Given the description of an element on the screen output the (x, y) to click on. 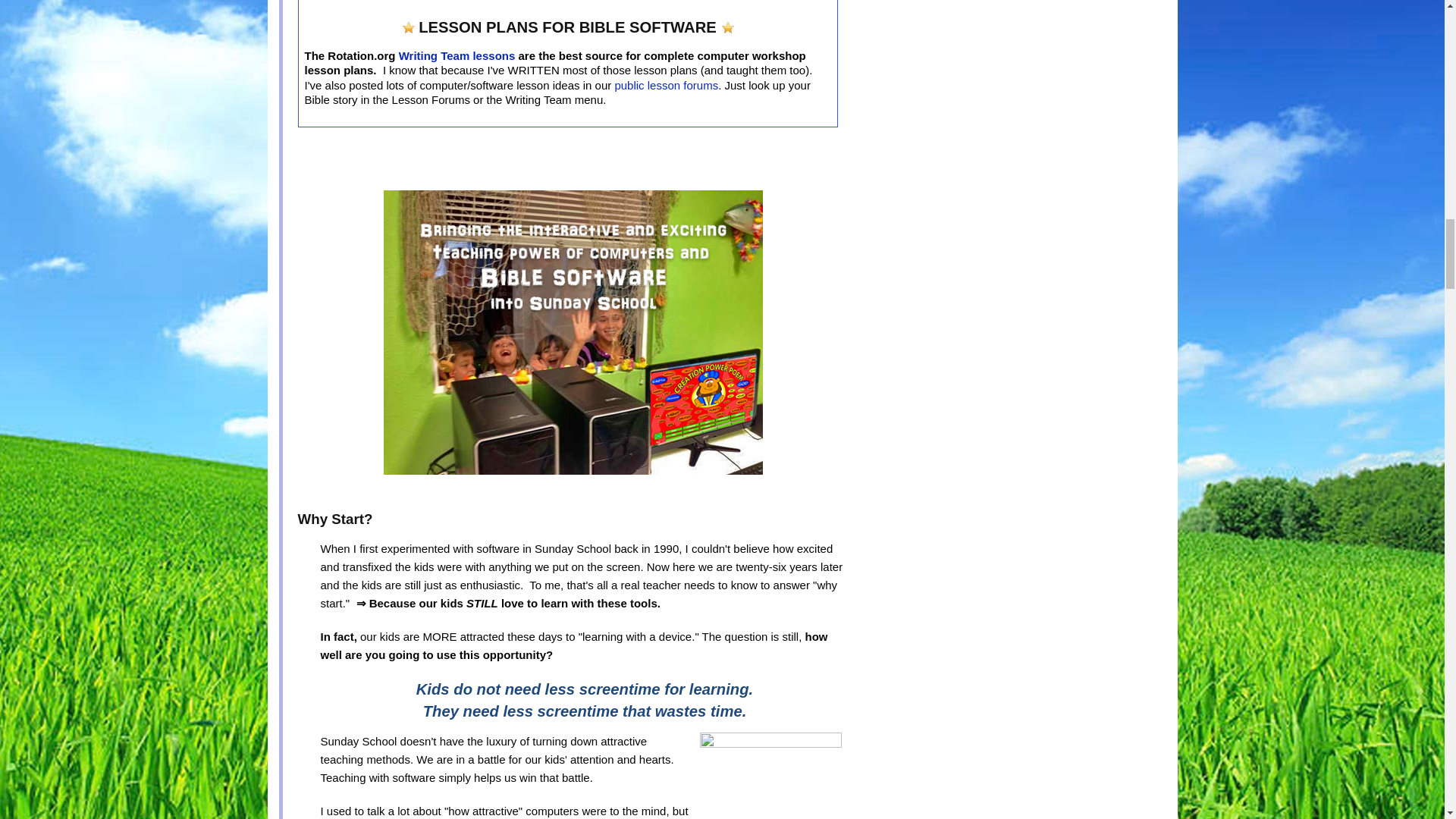
s1 (727, 28)
s1 (408, 28)
PowerofComputers (573, 332)
